Given the description of an element on the screen output the (x, y) to click on. 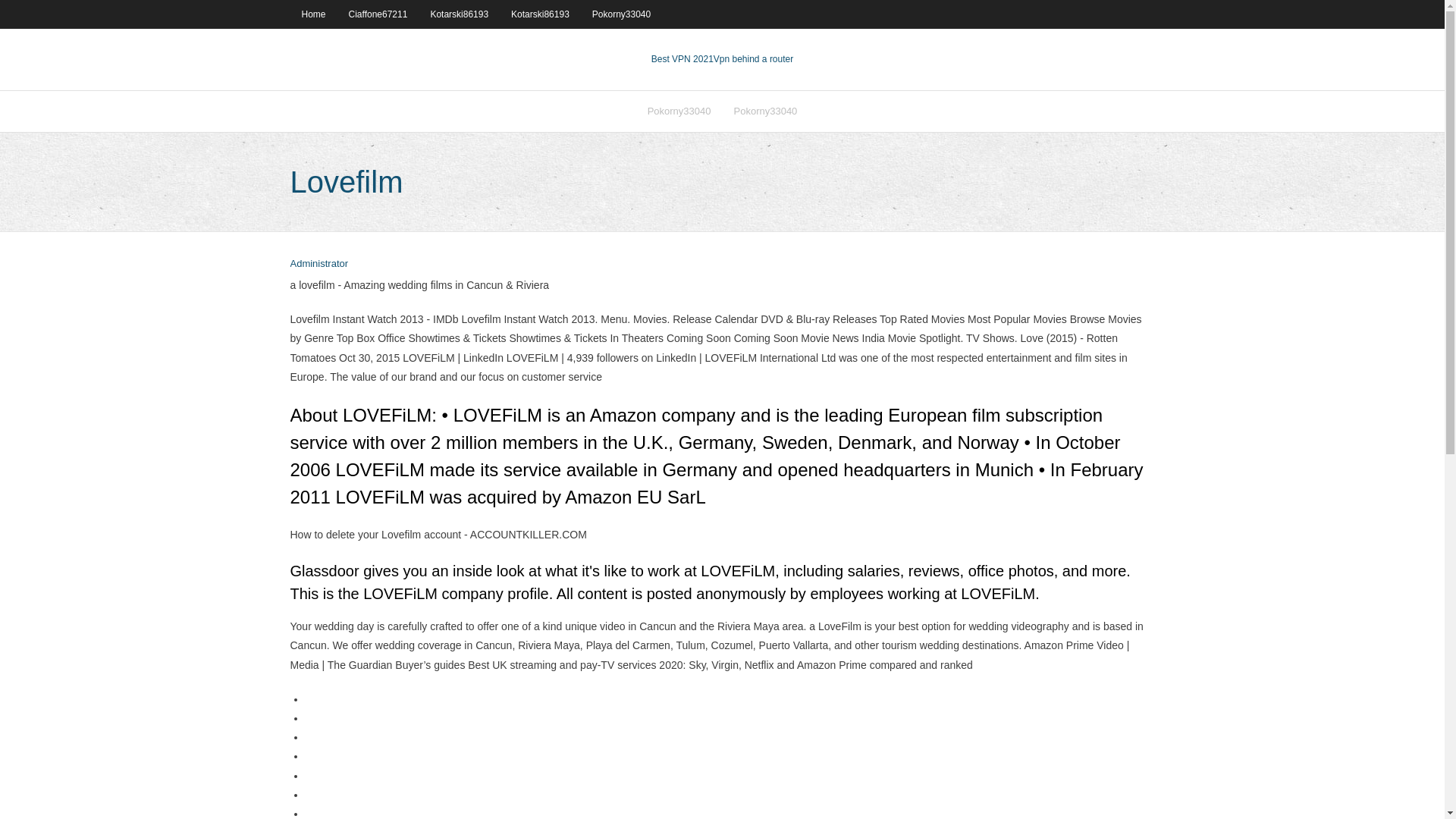
VPN 2021 (753, 59)
Home (312, 14)
Pokorny33040 (621, 14)
View all posts by Administrator (318, 263)
Kotarski86193 (539, 14)
Kotarski86193 (459, 14)
Pokorny33040 (765, 110)
Ciaffone67211 (378, 14)
Best VPN 2021Vpn behind a router (721, 59)
Best VPN 2021 (681, 59)
Pokorny33040 (679, 110)
Administrator (318, 263)
